Given the description of an element on the screen output the (x, y) to click on. 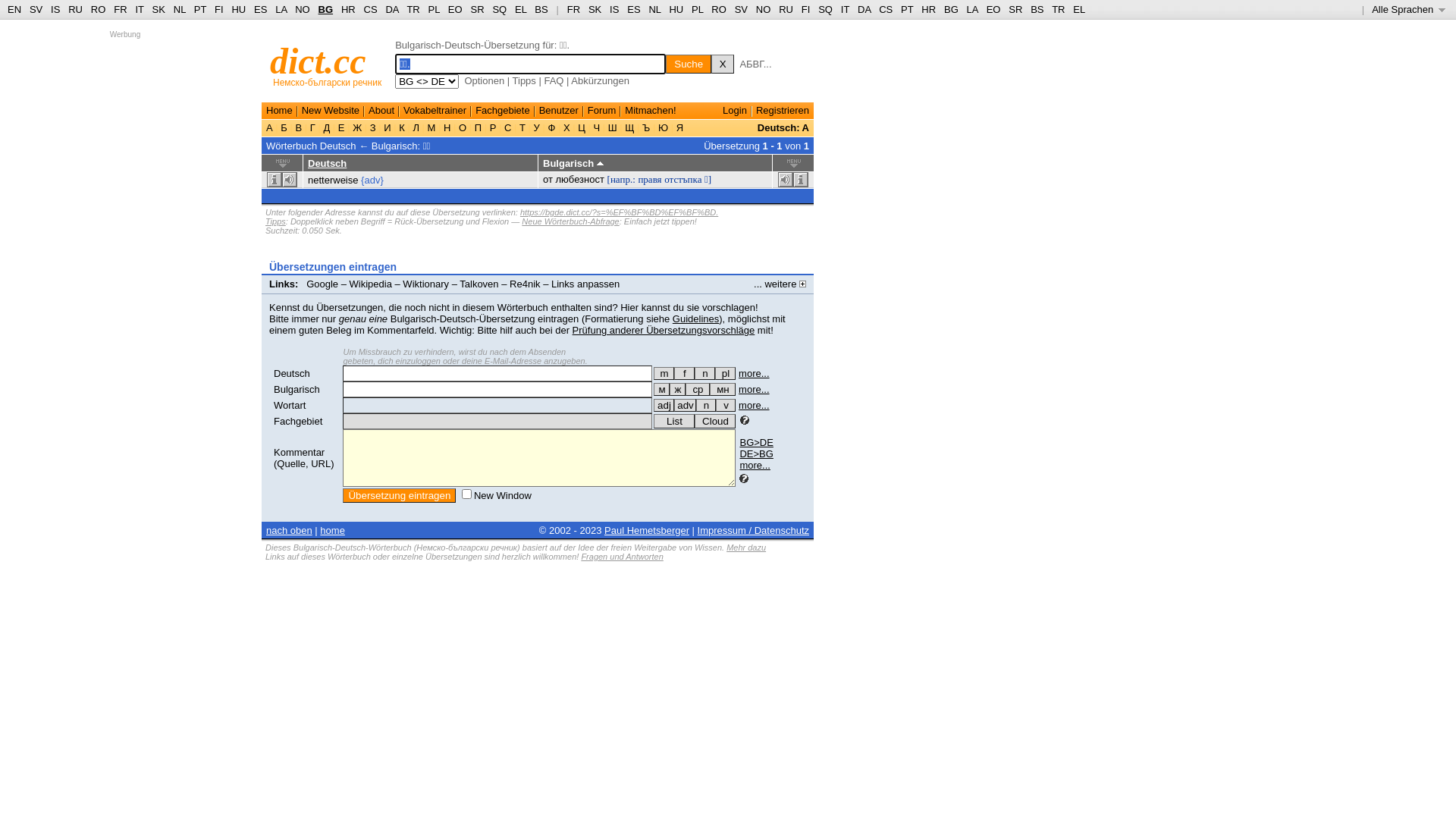
DE>BG Element type: text (755, 453)
Login Element type: text (734, 110)
NL Element type: text (179, 9)
m Element type: text (663, 373)
NL Element type: text (654, 9)
EL Element type: text (520, 9)
dict.cc Element type: text (317, 60)
NO Element type: text (302, 9)
HU Element type: text (238, 9)
HU Element type: text (675, 9)
DA Element type: text (863, 9)
Wikipedia Element type: text (370, 283)
more... Element type: text (753, 405)
pl Element type: text (725, 373)
EO Element type: text (993, 9)
netterweise Element type: text (332, 179)
CS Element type: text (885, 9)
f Element type: text (684, 373)
Talkoven Element type: text (478, 283)
Mitmachen! Element type: text (649, 110)
ES Element type: text (633, 9)
SR Element type: text (1015, 9)
Guidelines Element type: text (695, 318)
n Element type: text (704, 373)
Registrieren Element type: text (782, 110)
Bulgarisch Element type: text (296, 389)
SV Element type: text (35, 9)
BG Element type: text (325, 9)
New Website Element type: text (330, 110)
RU Element type: text (75, 9)
Home Element type: text (279, 110)
more... Element type: text (754, 464)
PL Element type: text (433, 9)
Links anpassen Element type: text (585, 283)
BG Element type: text (951, 9)
Benutzer Element type: text (558, 110)
List Element type: text (673, 421)
Google Element type: text (322, 283)
FAQ Element type: text (553, 80)
HR Element type: text (928, 9)
RO Element type: text (718, 9)
die - weiblich (Femininum) Element type: hover (684, 373)
Tipps Element type: text (275, 220)
more... Element type: text (753, 389)
PT Element type: text (906, 9)
BS Element type: text (540, 9)
PL Element type: text (696, 9)
IT Element type: text (844, 9)
Alle Sprachen  Element type: text (1408, 9)
Suche Element type: text (688, 63)
Deutsch: A Element type: text (783, 127)
nach oben Element type: text (289, 530)
ES Element type: text (260, 9)
Paul Hemetsberger Element type: text (646, 530)
IS Element type: text (613, 9)
Vokabeltrainer Element type: text (434, 110)
CS Element type: text (370, 9)
Optionen Element type: text (484, 80)
FR Element type: text (119, 9)
TR Element type: text (1057, 9)
n Element type: text (705, 404)
adv Element type: text (685, 404)
TR Element type: text (412, 9)
Mehr dazu Element type: text (745, 547)
PT Element type: text (200, 9)
SQ Element type: text (499, 9)
LA Element type: text (972, 9)
Deutsch Element type: text (291, 373)
HR Element type: text (348, 9)
BS Element type: text (1036, 9)
Tipps Element type: text (524, 80)
SV Element type: text (740, 9)
FR Element type: text (573, 9)
SK Element type: text (594, 9)
Deutsch Element type: text (326, 163)
Wiktionary Element type: text (425, 283)
RU Element type: text (785, 9)
LA Element type: text (280, 9)
more... Element type: text (753, 373)
SK Element type: text (158, 9)
SR Element type: text (476, 9)
DA Element type: text (391, 9)
Forum Element type: text (601, 110)
Impressum / Datenschutz Element type: text (753, 530)
About Element type: text (381, 110)
Cloud Element type: text (714, 421)
adj Element type: text (663, 404)
RO Element type: text (98, 9)
home Element type: text (332, 530)
Fachgebiete Element type: text (502, 110)
IT Element type: text (138, 9)
NO Element type: text (763, 9)
IS Element type: text (54, 9)
Fragen und Antworten Element type: text (621, 556)
BG>DE Element type: text (755, 442)
SQ Element type: text (825, 9)
FI Element type: text (218, 9)
... weitere Element type: text (779, 283)
v Element type: text (725, 404)
EL Element type: text (1079, 9)
FI Element type: text (805, 9)
Re4nik Element type: text (524, 283)
https://bgde.dict.cc/?s=%EF%BF%BD%EF%BF%BD. Element type: text (619, 211)
EO Element type: text (455, 9)
EN Element type: text (14, 9)
die - Mehrzahl (Plural) Element type: hover (725, 373)
X Element type: text (722, 63)
